Given the description of an element on the screen output the (x, y) to click on. 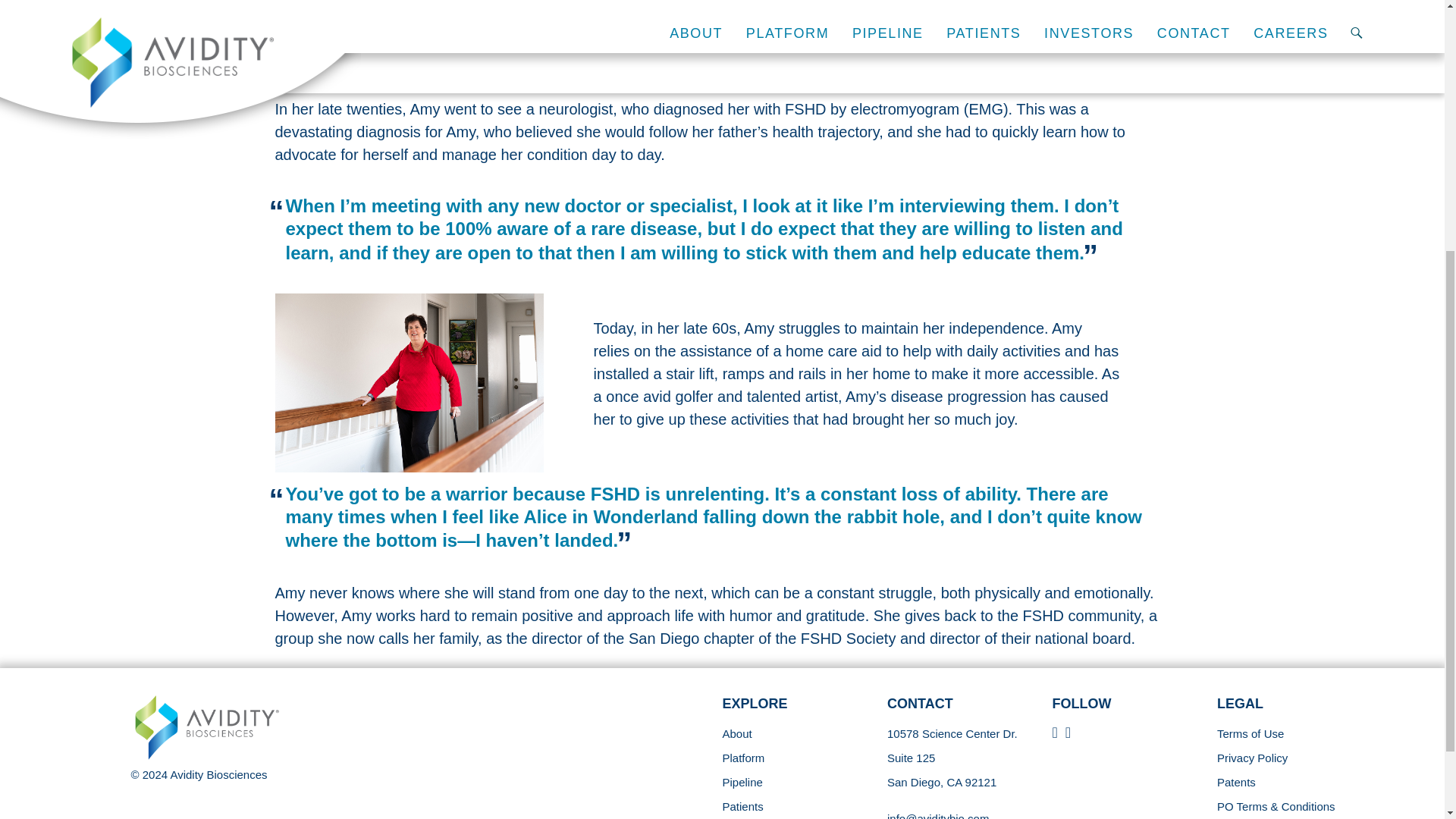
Pipeline (741, 781)
Patients (742, 806)
Platform (743, 757)
About (736, 733)
